Given the description of an element on the screen output the (x, y) to click on. 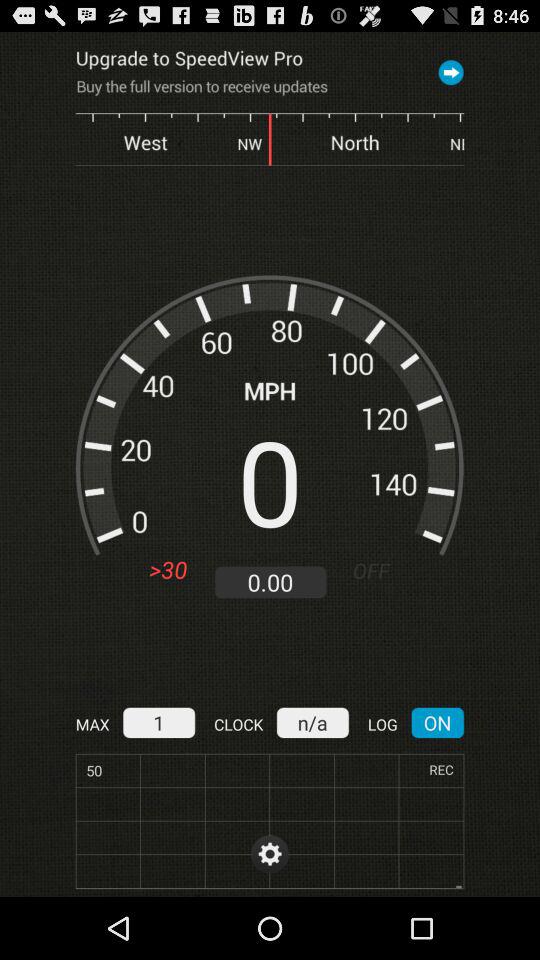
press the item next to max item (158, 722)
